Given the description of an element on the screen output the (x, y) to click on. 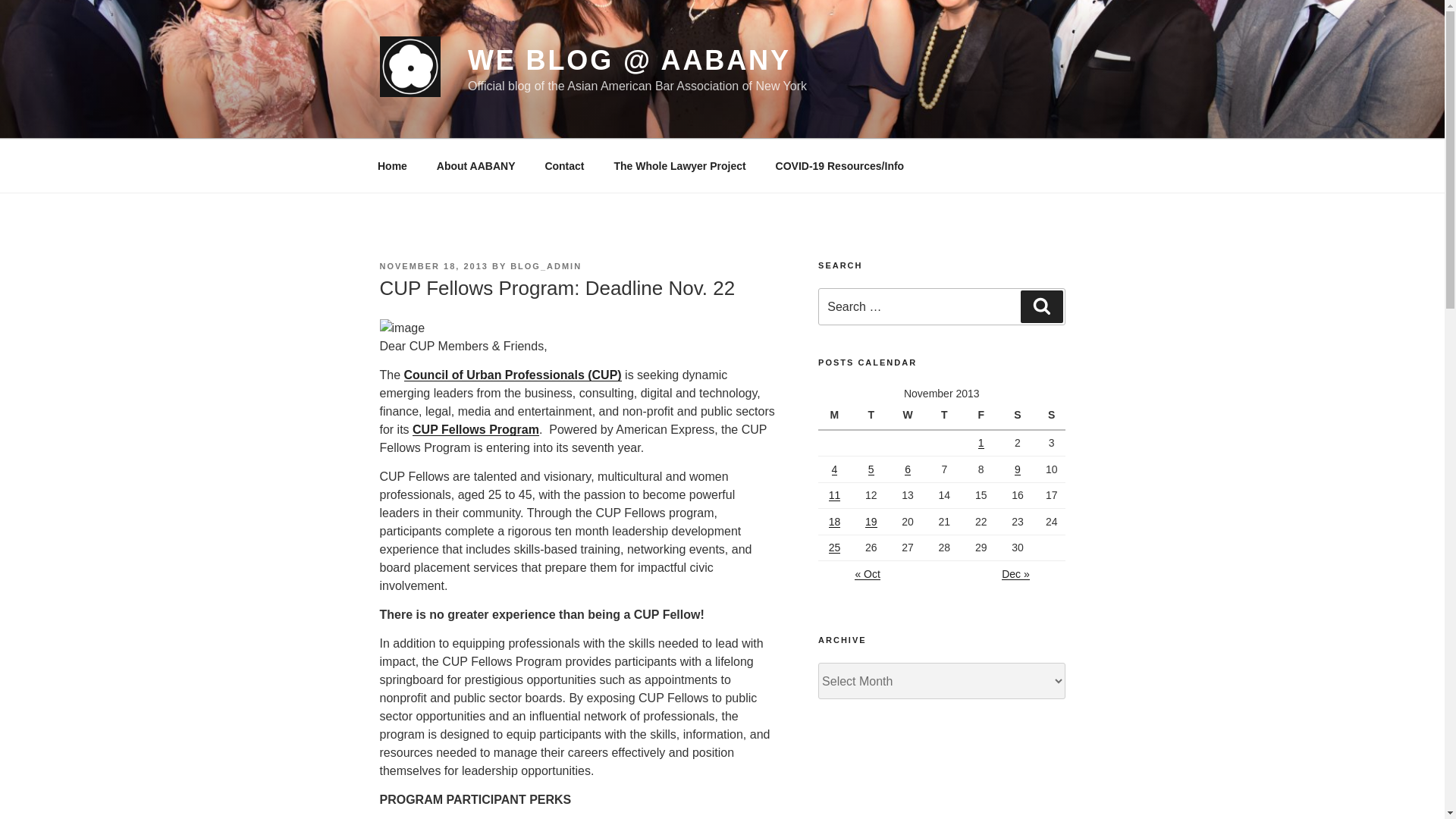
Thursday (945, 415)
Home (392, 165)
19 (870, 521)
Wednesday (909, 415)
The Whole Lawyer Project (678, 165)
11 (834, 494)
Monday (836, 415)
Search (1041, 306)
CUP Fellows Program (475, 429)
18 (834, 521)
About AABANY (475, 165)
Contact (563, 165)
NOVEMBER 18, 2013 (432, 266)
Saturday (1019, 415)
Sunday (1051, 415)
